Given the description of an element on the screen output the (x, y) to click on. 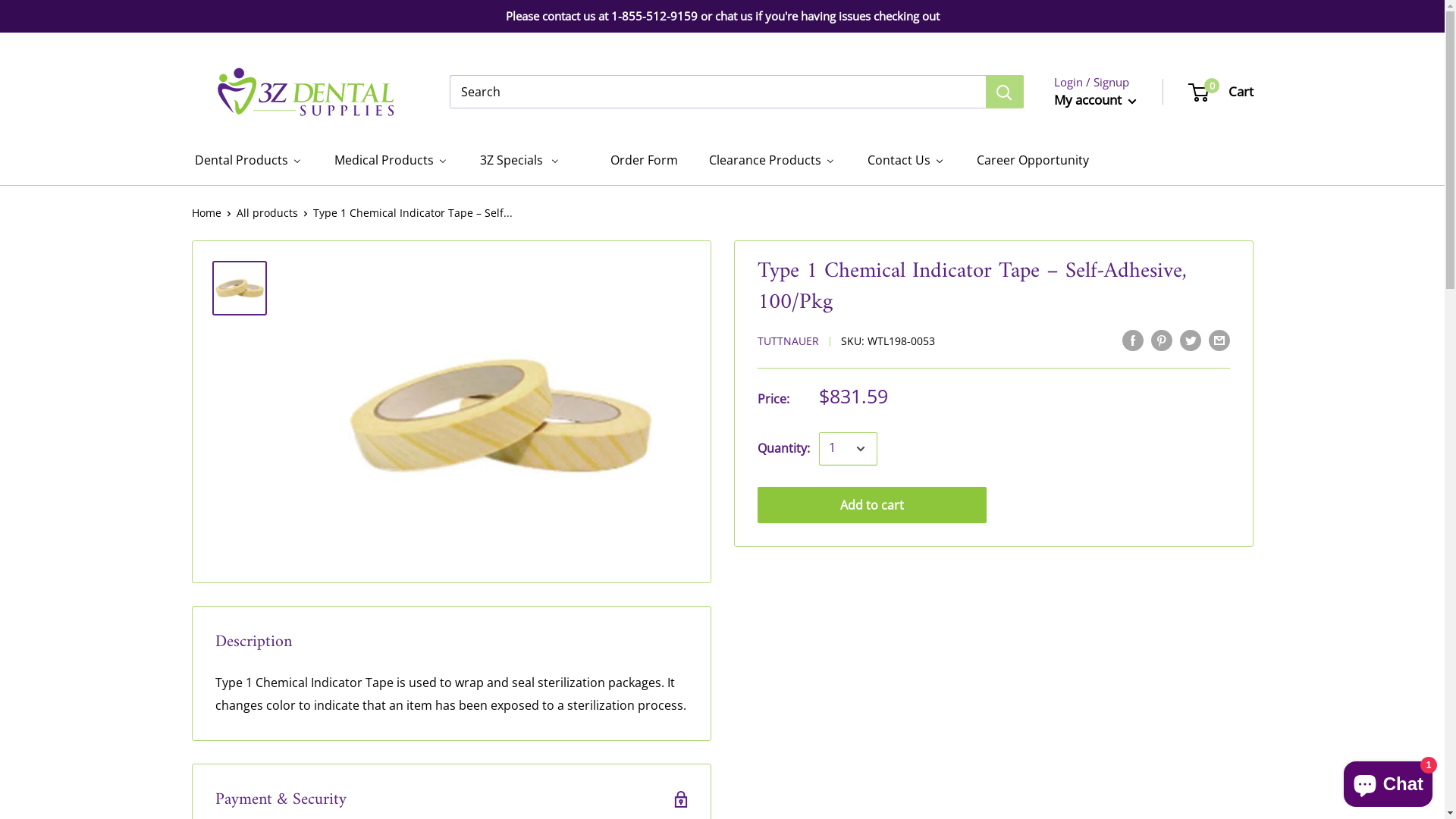
TUTTNAUER Element type: text (787, 340)
Order Form Element type: text (633, 160)
My account Element type: text (1095, 99)
Clearance Products Element type: text (771, 160)
Add to cart Element type: text (871, 504)
All products Element type: text (267, 212)
Shopify online store chat Element type: hover (1388, 780)
Home Element type: text (205, 212)
3Z Specials Element type: text (518, 160)
0
Cart Element type: text (1220, 91)
Dental Products Element type: text (247, 160)
Contact Us Element type: text (905, 160)
Career Opportunity Element type: text (1031, 160)
Medical Products Element type: text (389, 160)
